Given the description of an element on the screen output the (x, y) to click on. 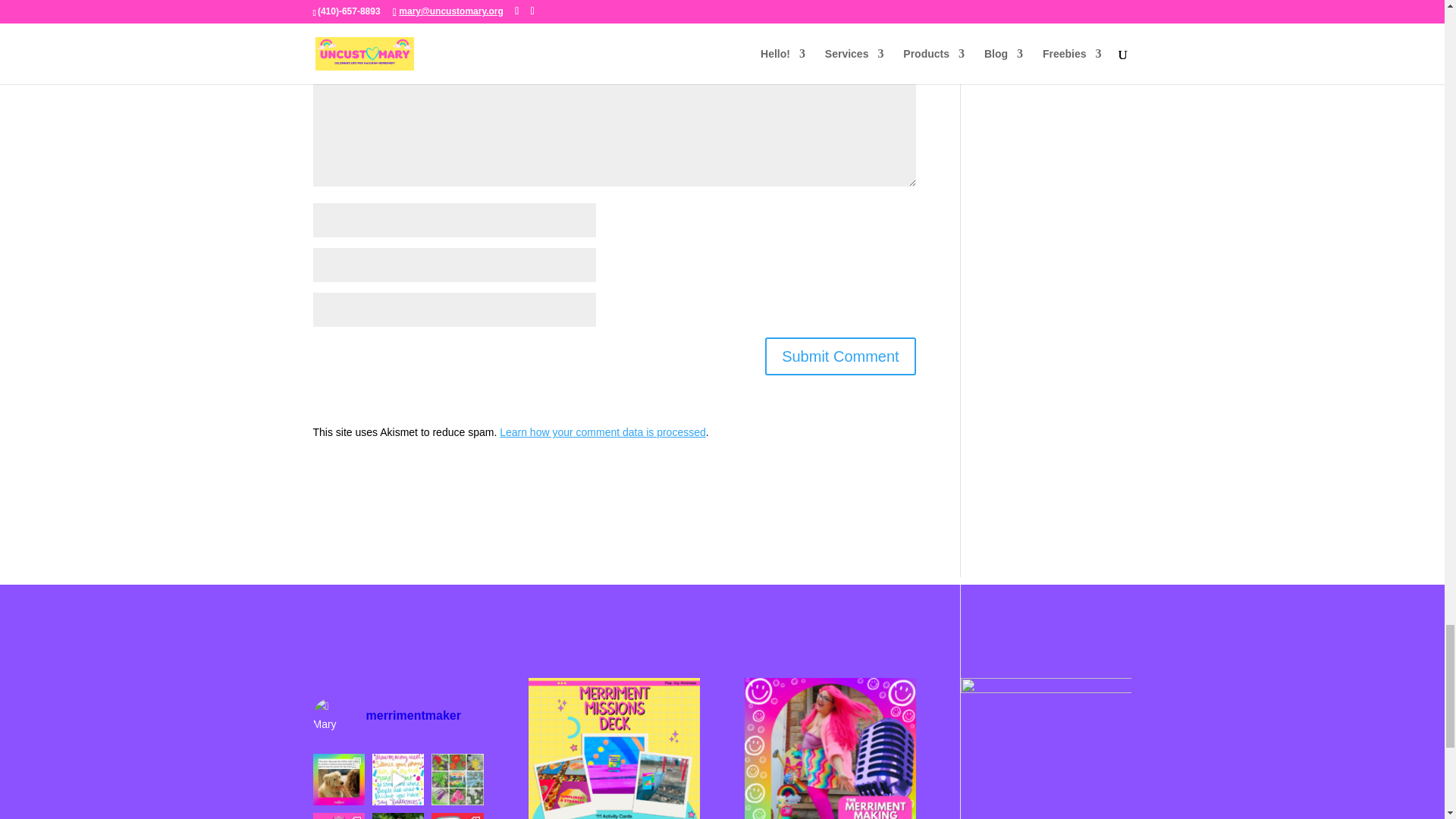
Submit Comment (840, 356)
